Given the description of an element on the screen output the (x, y) to click on. 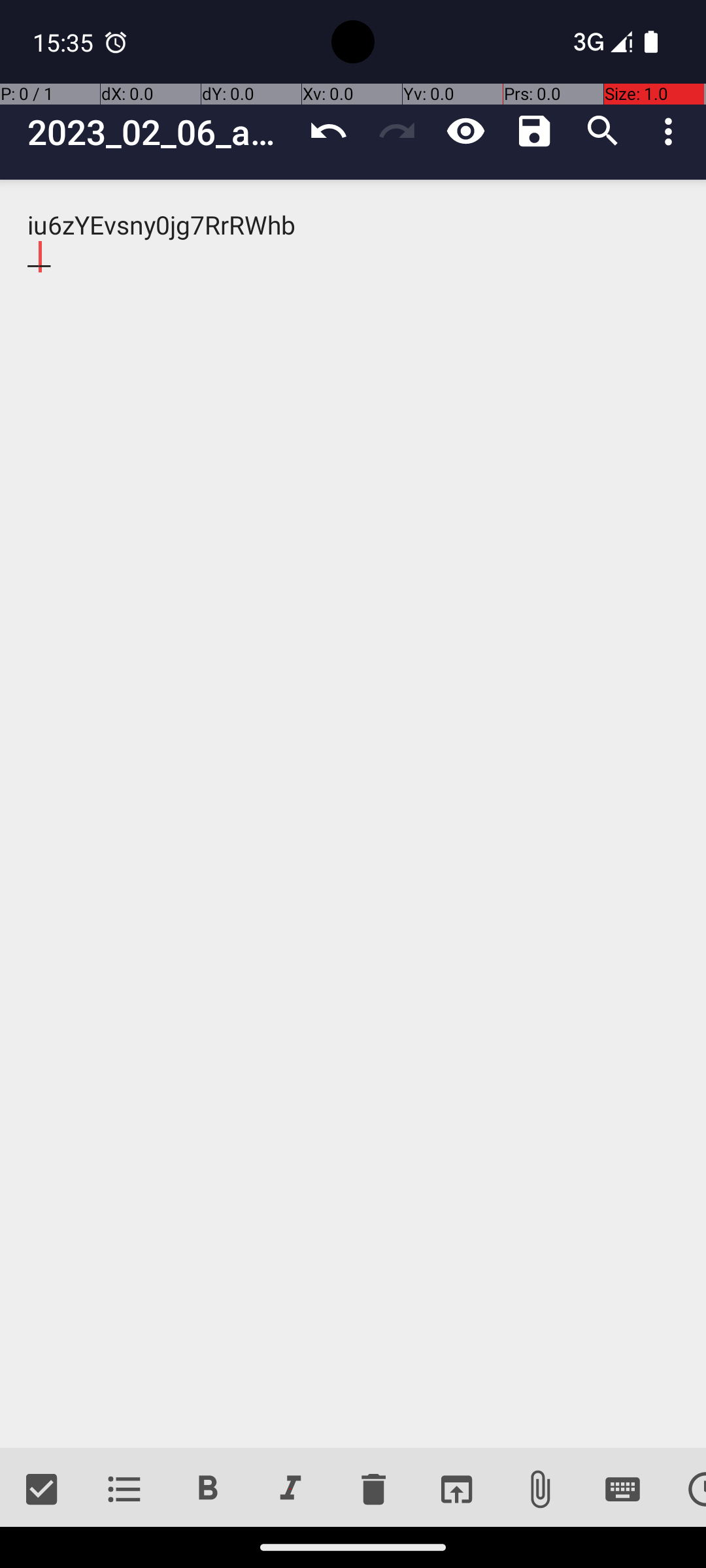
2023_02_06_april_workout_routine Element type: android.widget.TextView (160, 131)
iu6zYEvsny0jg7RrRWhb
__ Element type: android.widget.EditText (353, 813)
